Given the description of an element on the screen output the (x, y) to click on. 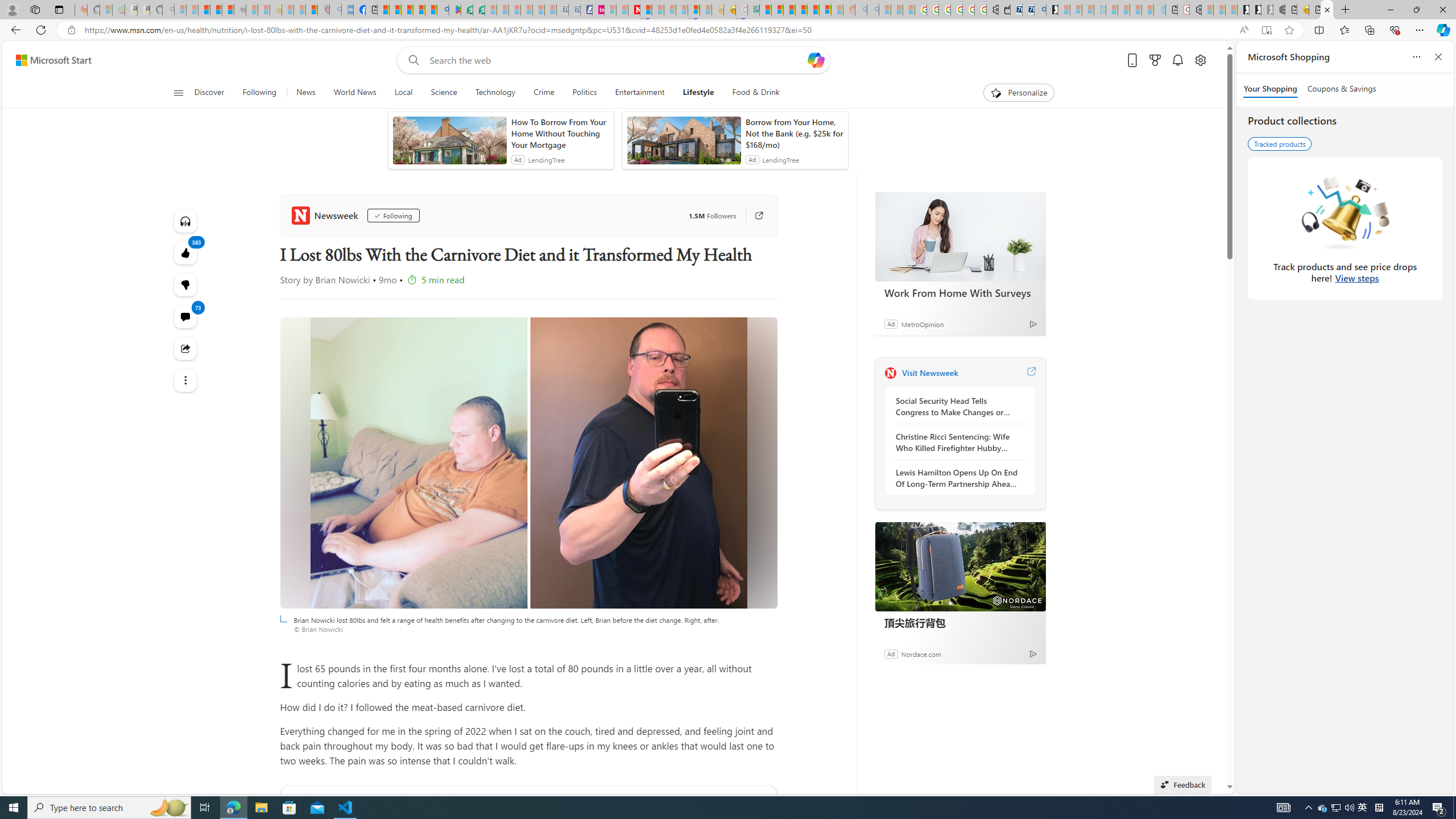
Ad Choice (1032, 653)
World News (354, 92)
Microsoft Start Gaming (1051, 9)
Microsoft account | Privacy - Sleeping (1088, 9)
Politics (584, 92)
News (305, 92)
Crime (543, 92)
Restore (1416, 9)
Pets - MSN (418, 9)
Latest Politics News & Archive | Newsweek.com (634, 9)
